Given the description of an element on the screen output the (x, y) to click on. 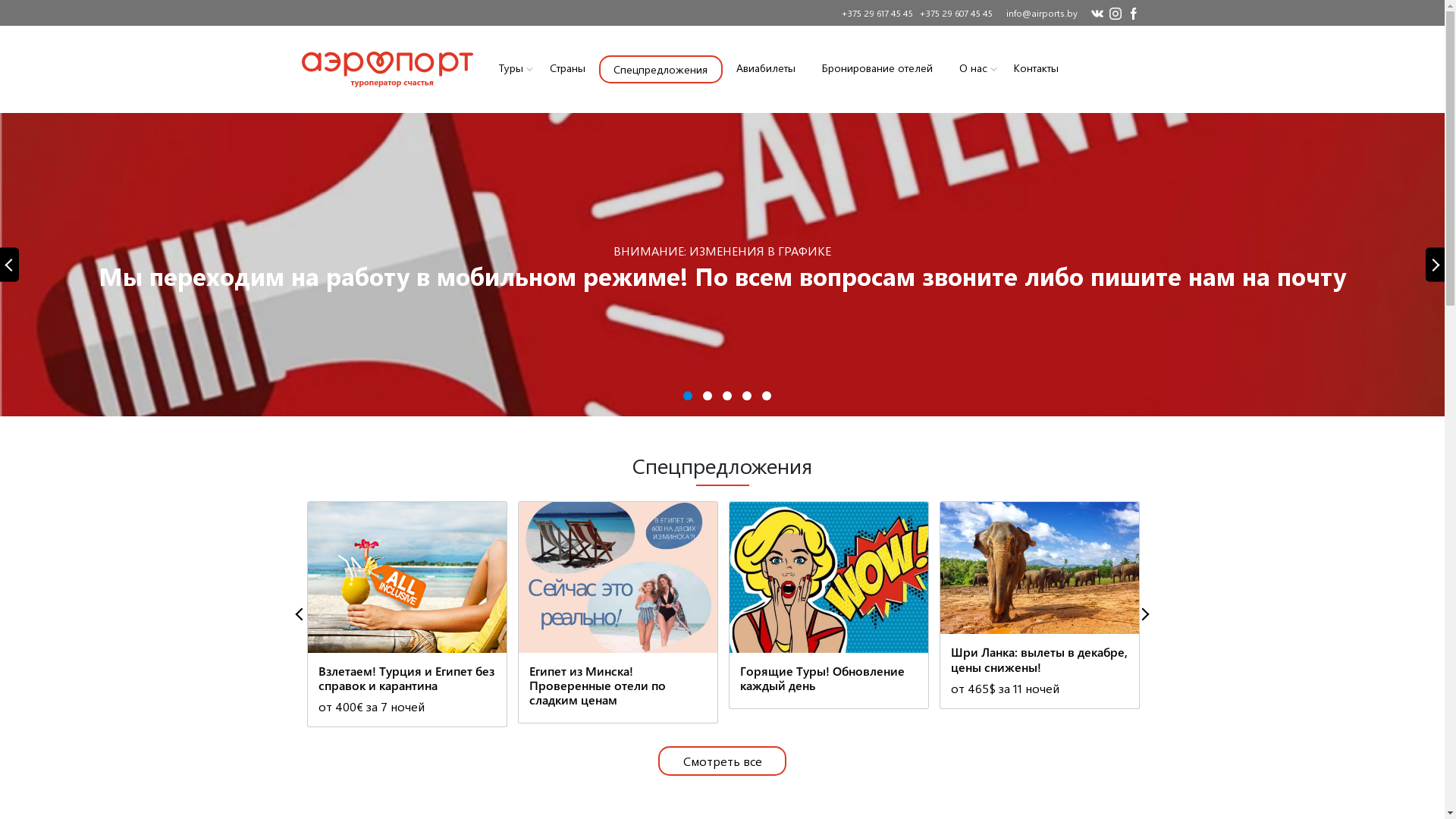
info@airports.by Element type: text (1040, 12)
+375 29 607 45 45 Element type: text (952, 12)
+375 29 617 45 45 Element type: text (875, 12)
